Given the description of an element on the screen output the (x, y) to click on. 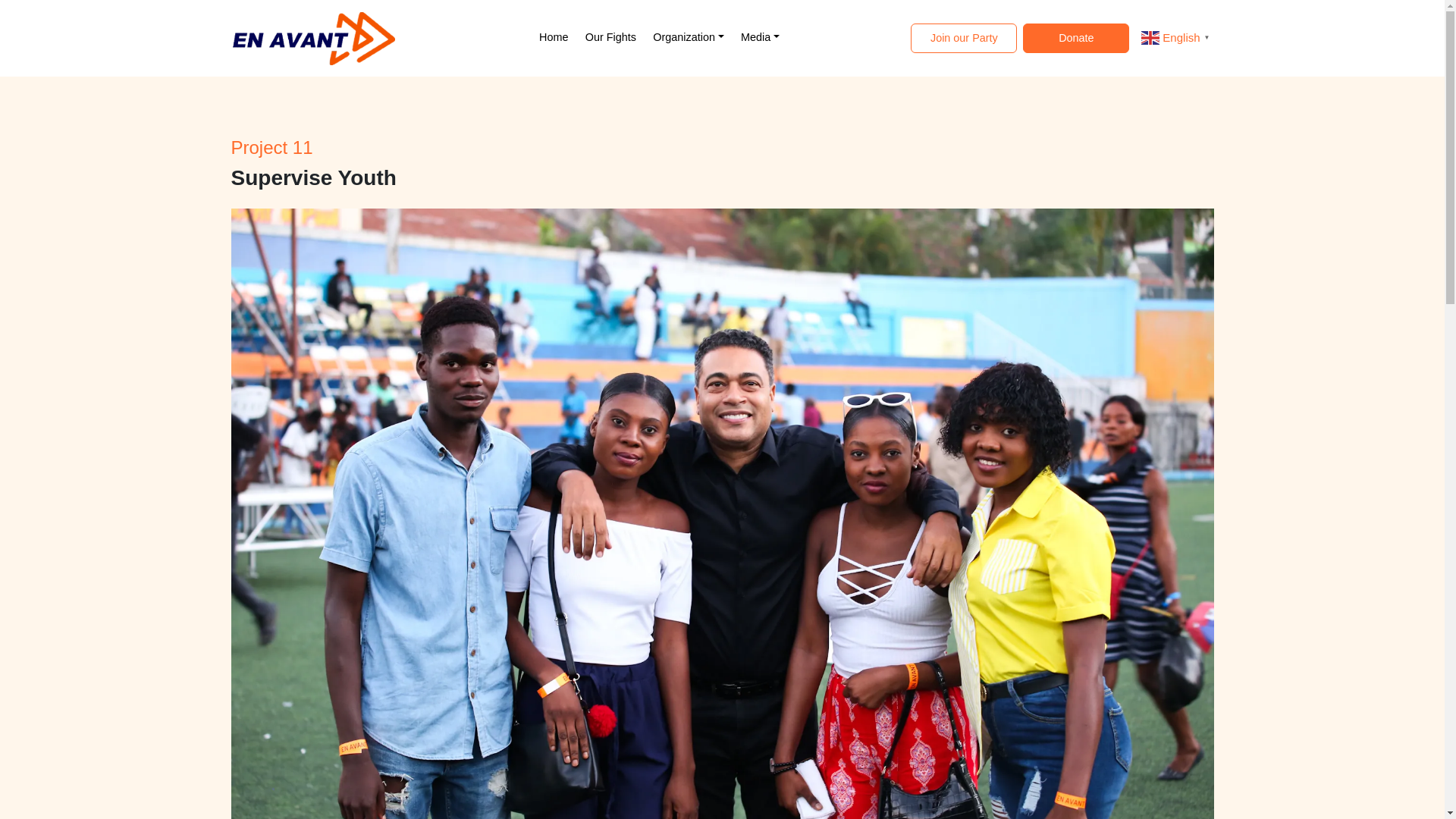
Our Fights (610, 37)
Donate (1076, 38)
EN AVANT (312, 37)
Media (760, 37)
Home (552, 37)
Join our Party (963, 38)
Organization (687, 37)
